Given the description of an element on the screen output the (x, y) to click on. 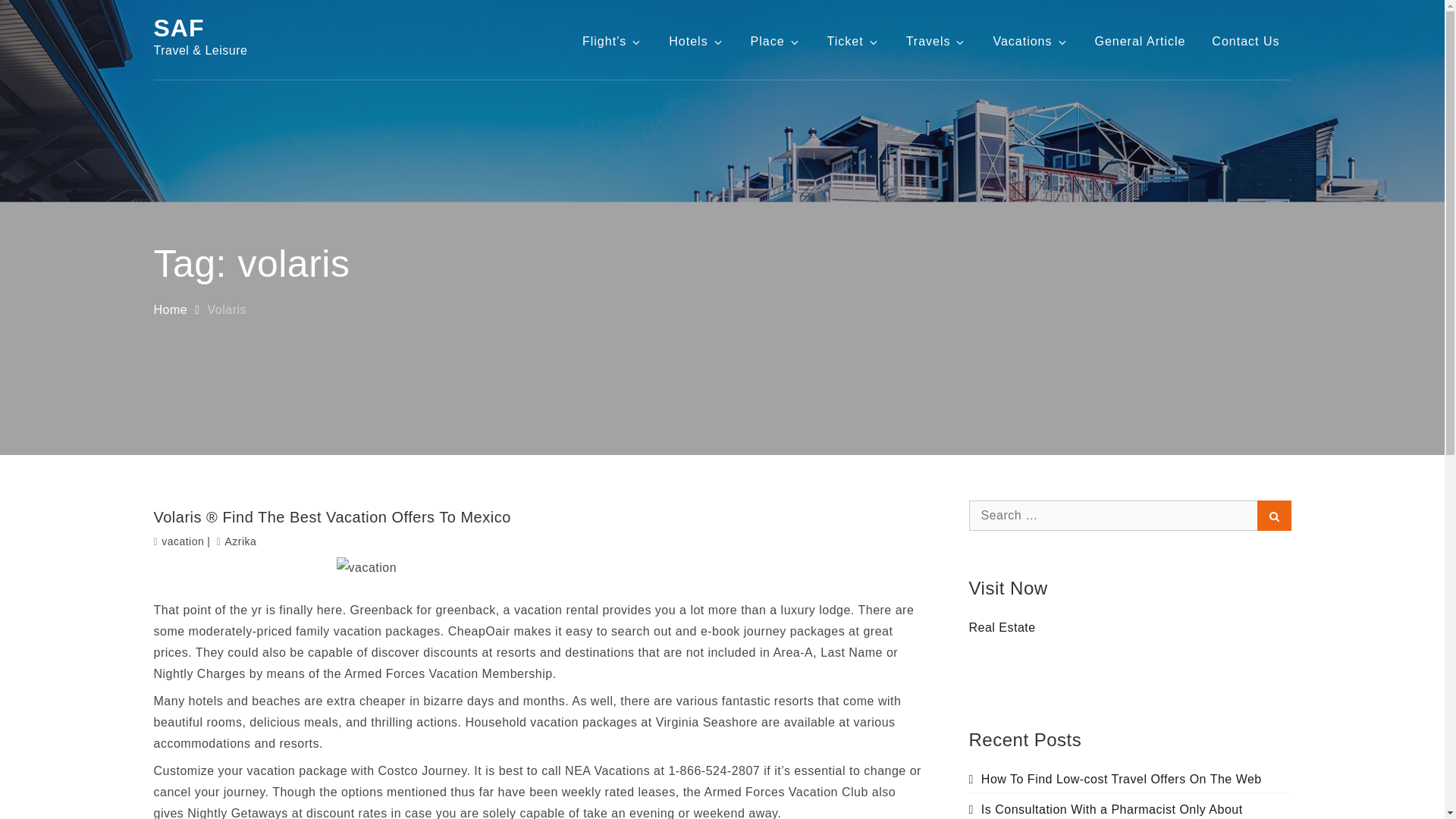
Home (169, 309)
Place (775, 41)
Ticket (853, 41)
Contact Us (1244, 41)
vacation (182, 541)
Hotels (696, 41)
Vacations (1029, 41)
General Article (1139, 41)
Travels (936, 41)
